Given the description of an element on the screen output the (x, y) to click on. 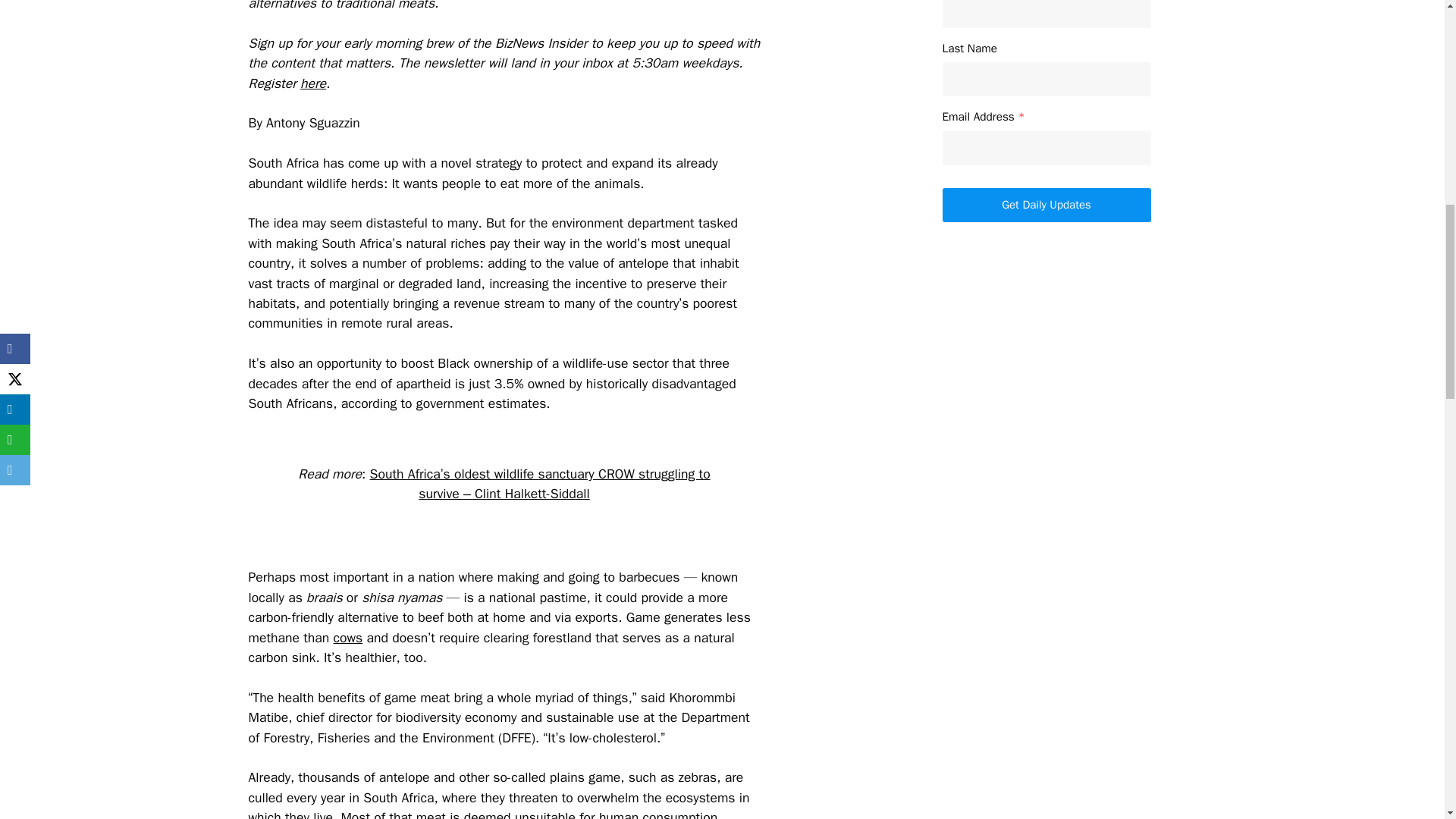
Get Daily Updates (1046, 204)
cows (347, 637)
here (312, 83)
